Given the description of an element on the screen output the (x, y) to click on. 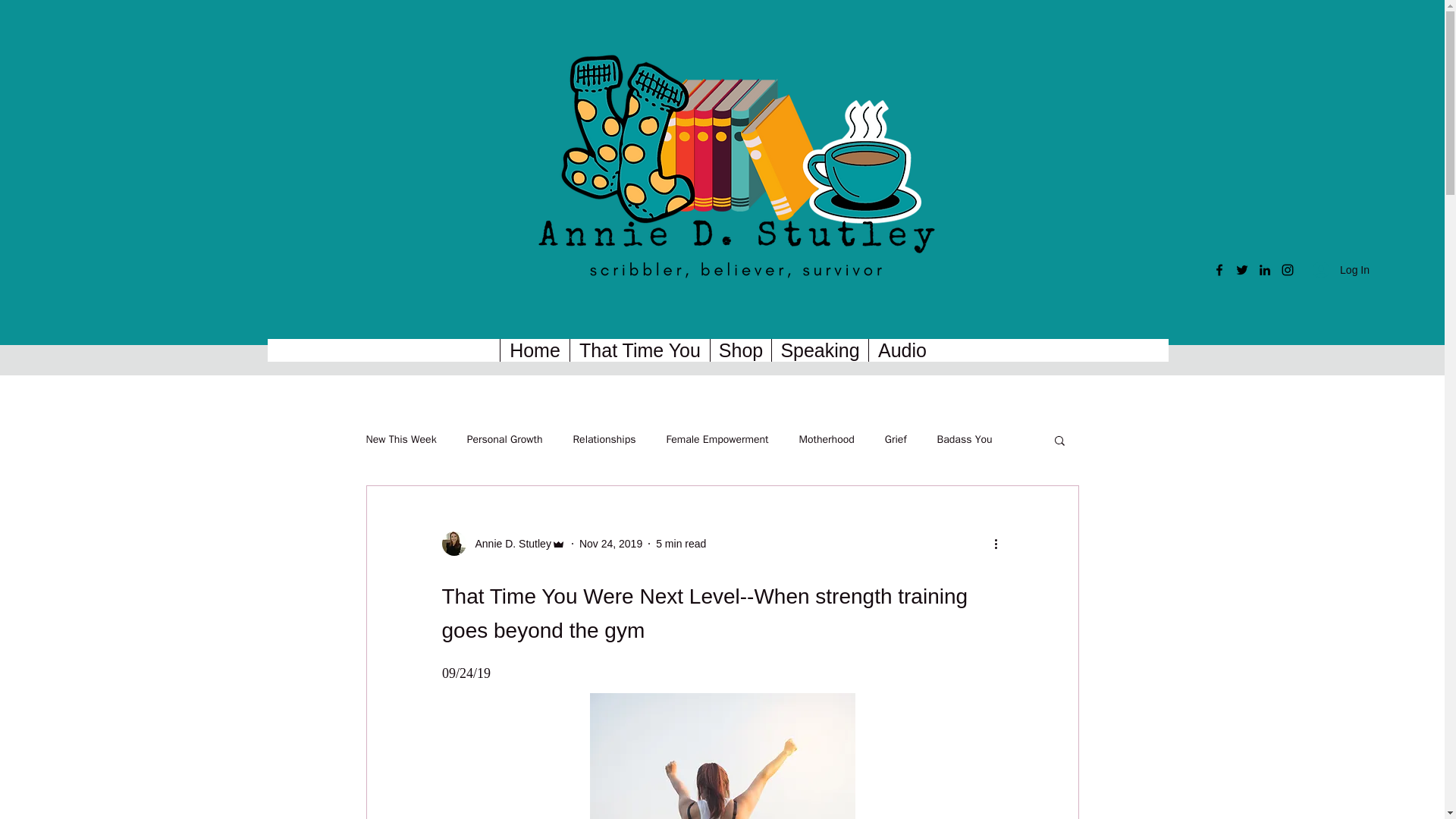
Nov 24, 2019 (610, 542)
New This Week (400, 439)
Female Empowerment (716, 439)
Shop (740, 350)
Log In (1340, 270)
Relationships (603, 439)
Audio (901, 350)
Home (534, 350)
Speaking (819, 350)
Motherhood (826, 439)
5 min read (681, 542)
Badass You (964, 439)
Personal Growth (505, 439)
Annie D. Stutley (507, 543)
Grief (896, 439)
